Given the description of an element on the screen output the (x, y) to click on. 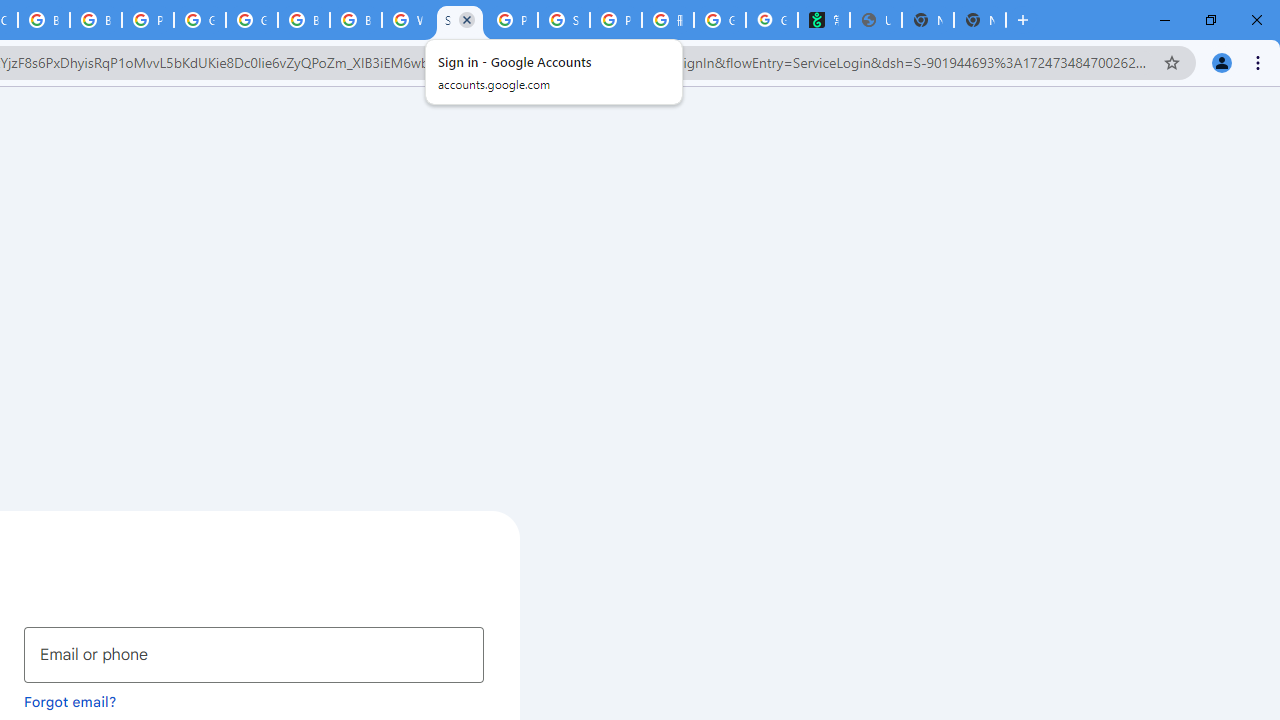
Google Cloud Platform (251, 20)
Browse Chrome as a guest - Computer - Google Chrome Help (43, 20)
New Tab (979, 20)
Sign in - Google Accounts (459, 20)
Email or phone (253, 654)
